Given the description of an element on the screen output the (x, y) to click on. 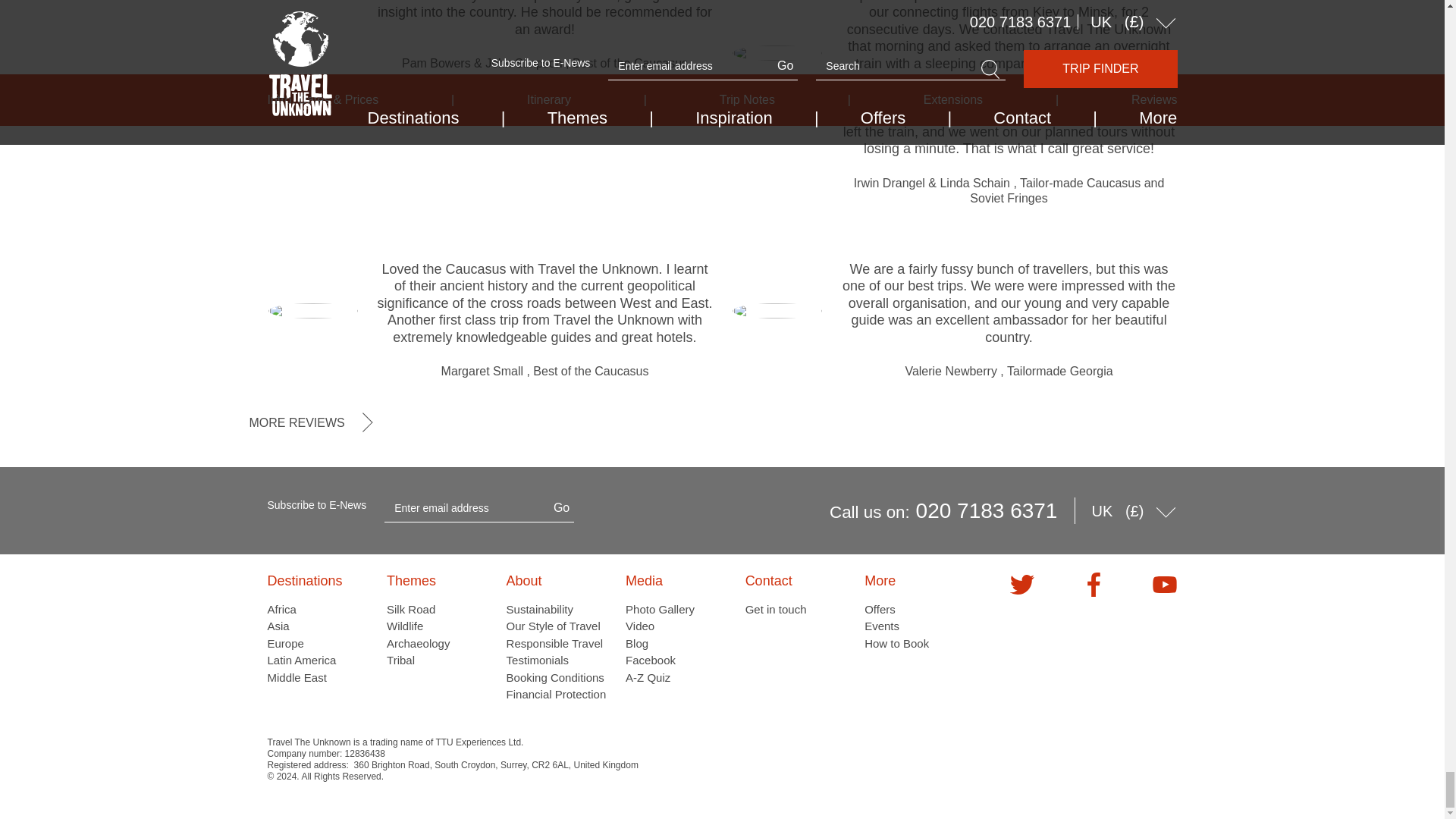
Watch our videos on YouTube (1164, 584)
Find us on Facebook (1093, 584)
Follow us on Twitter (1021, 584)
